Given the description of an element on the screen output the (x, y) to click on. 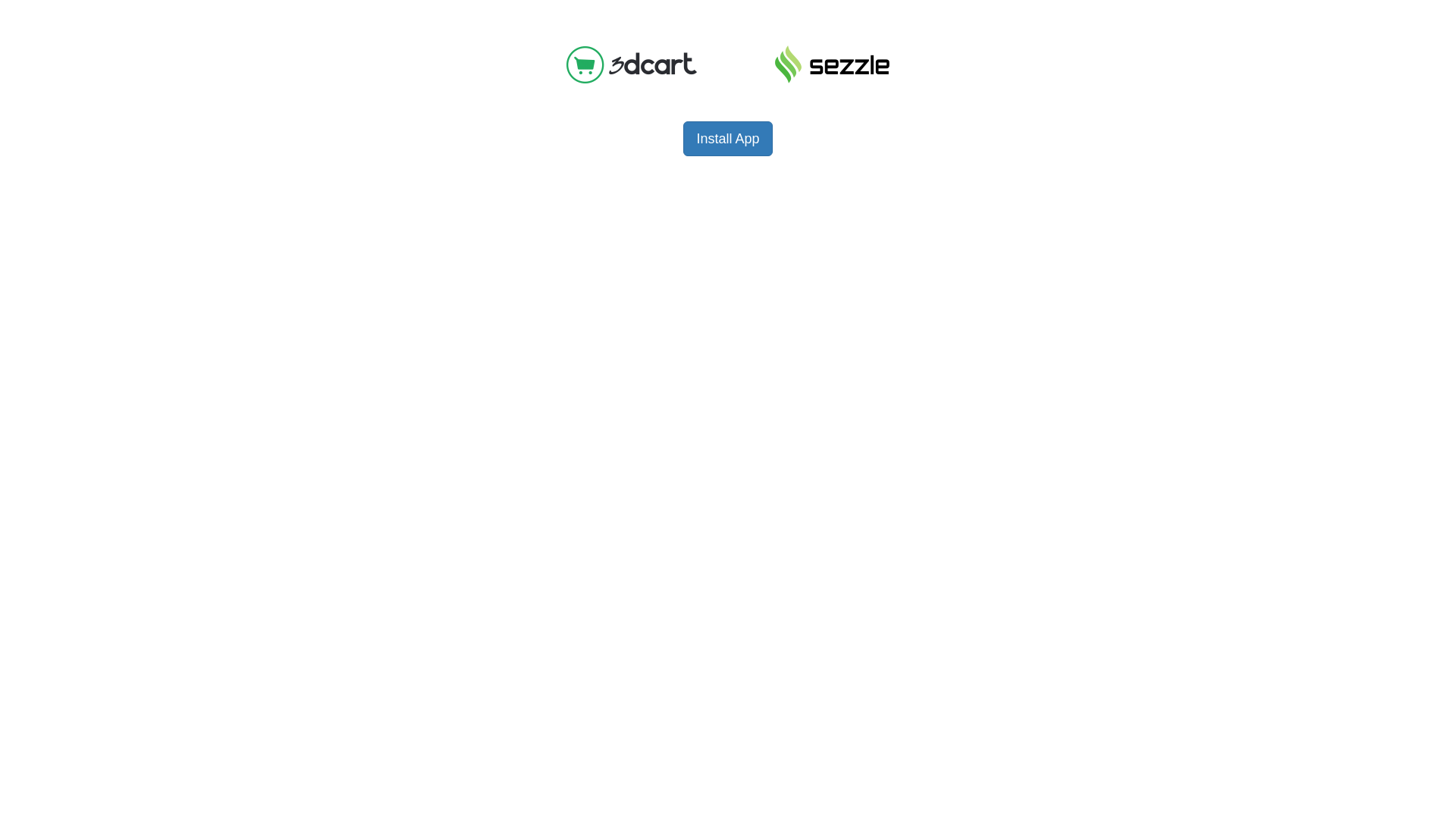
Install App Element type: text (727, 138)
